Given the description of an element on the screen output the (x, y) to click on. 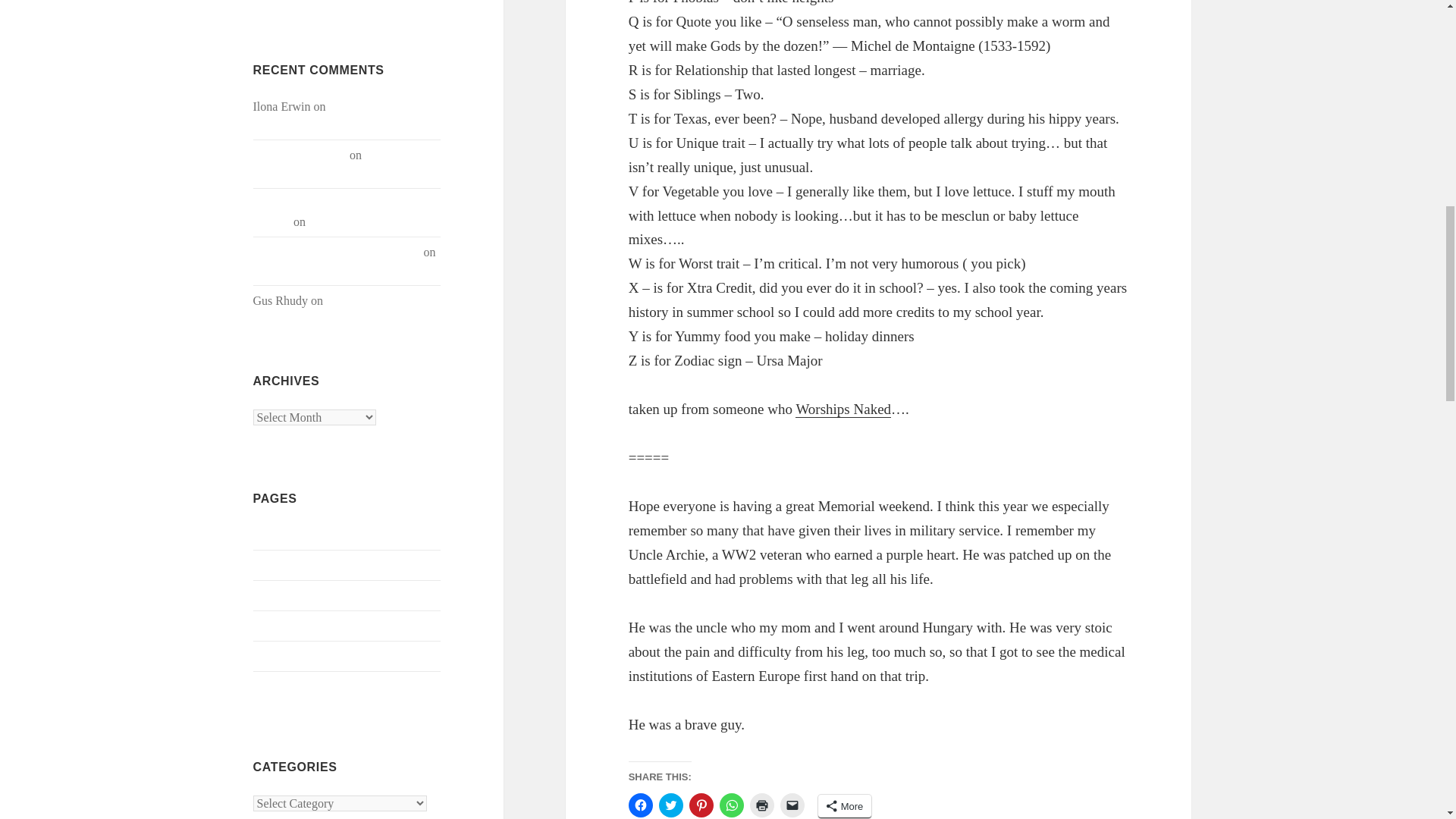
Bartz A Johnson Jr. (300, 154)
Worships Naked (842, 409)
Protected: Experimental Posting For Family (333, 115)
Alternative Energy (370, 300)
Click to share on Twitter (670, 805)
Click to share on Facebook (640, 805)
June Chores 2013 - Ilona's Garden (336, 251)
Quotes (269, 686)
Click to print (761, 805)
Colophon (277, 625)
More (845, 806)
Roadtrips (276, 269)
Best Posts (277, 564)
Click to share on WhatsApp (731, 805)
BookShelf (278, 594)
